Given the description of an element on the screen output the (x, y) to click on. 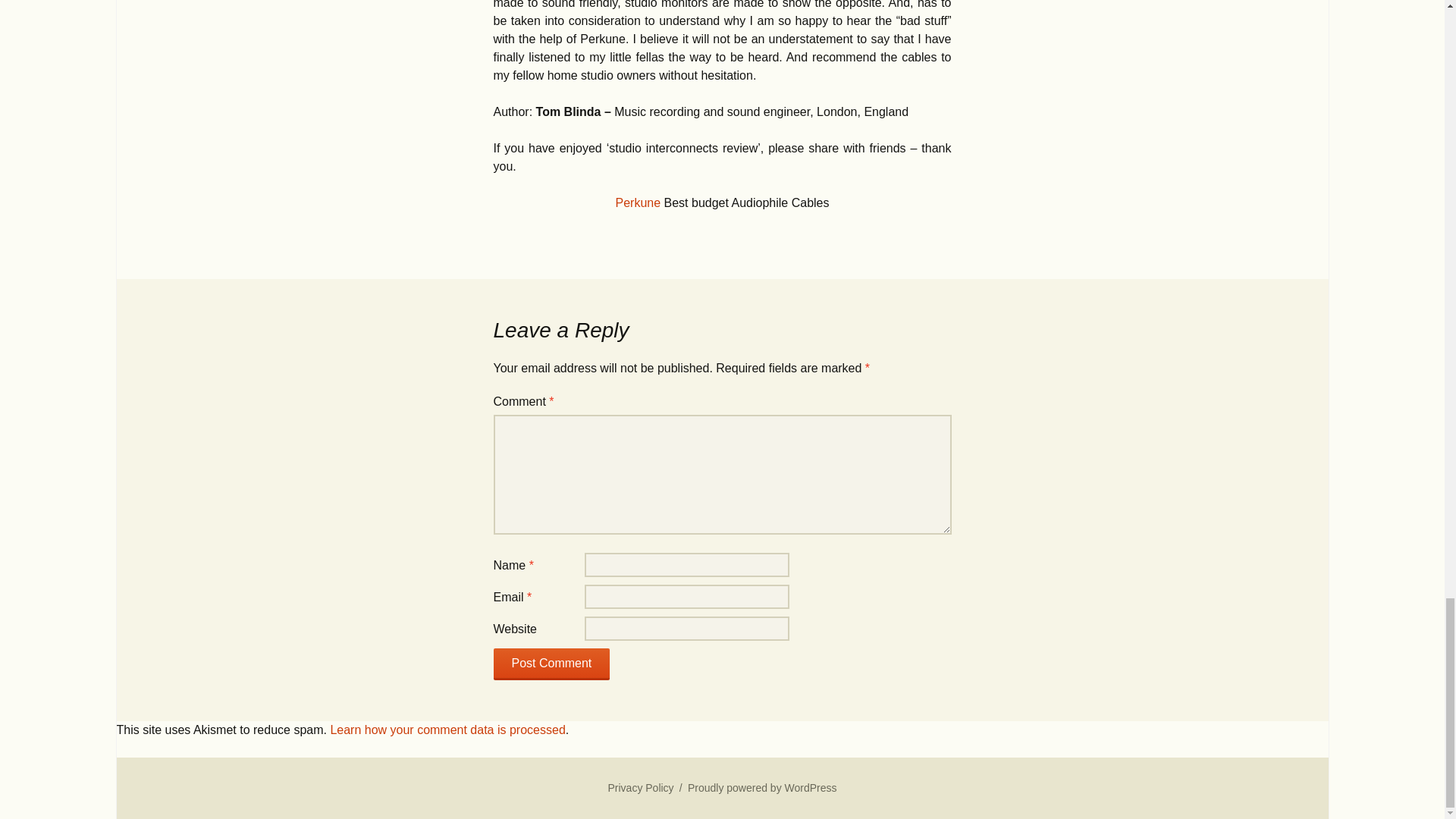
Learn how your comment data is processed (447, 729)
Post Comment (551, 664)
Privacy Policy (639, 787)
Post Comment (551, 664)
Perkune (638, 202)
